Given the description of an element on the screen output the (x, y) to click on. 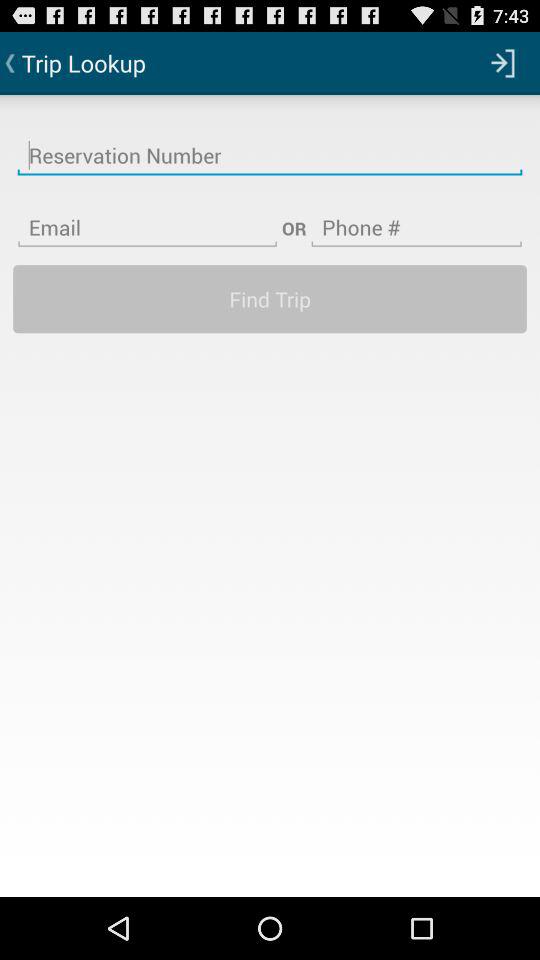
turn off the find trip button (269, 298)
